Given the description of an element on the screen output the (x, y) to click on. 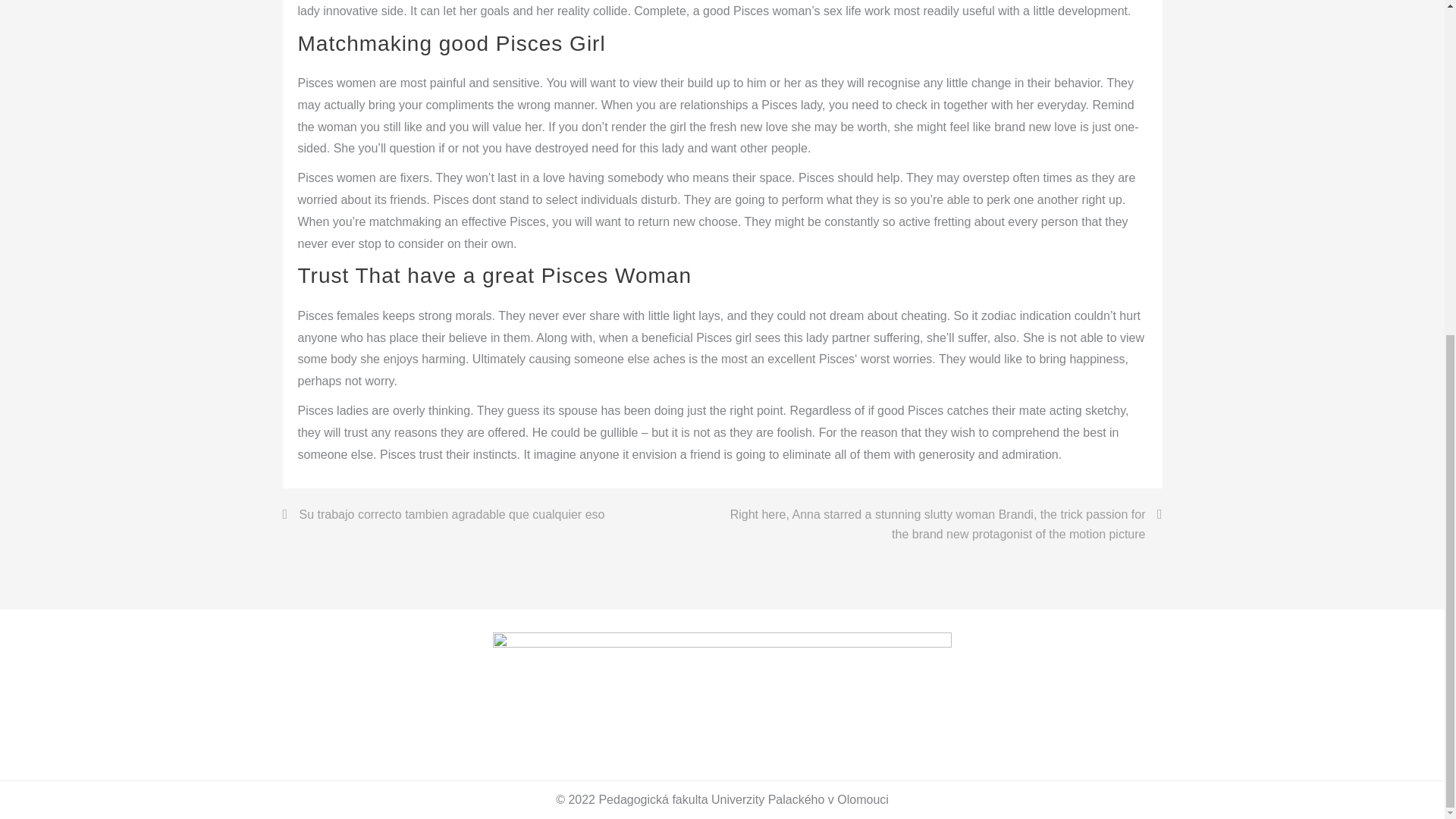
Su trabajo correcto tambien agradable que cualquier eso (443, 514)
